Given the description of an element on the screen output the (x, y) to click on. 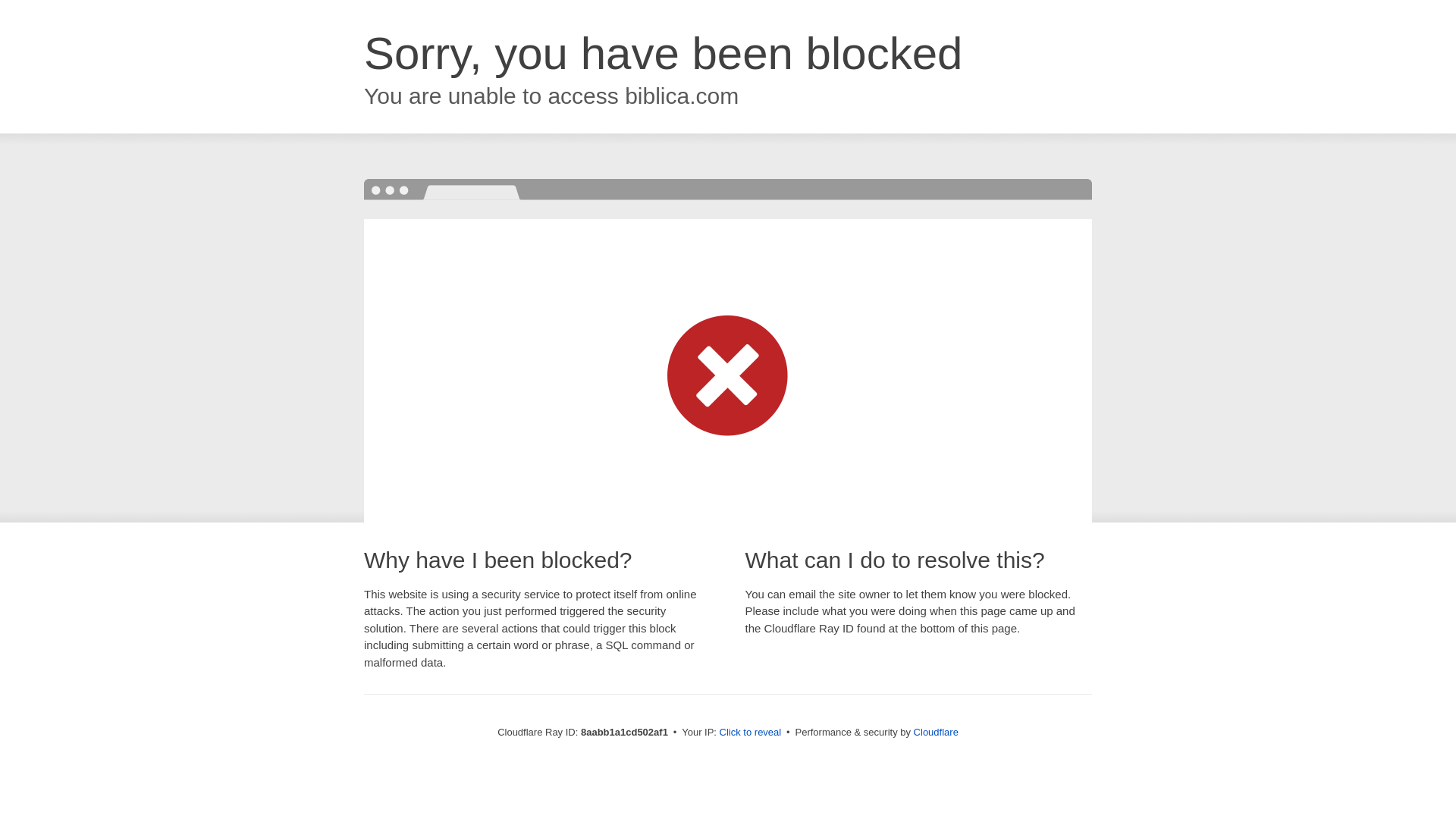
Click to reveal (750, 732)
Cloudflare (936, 731)
